Given the description of an element on the screen output the (x, y) to click on. 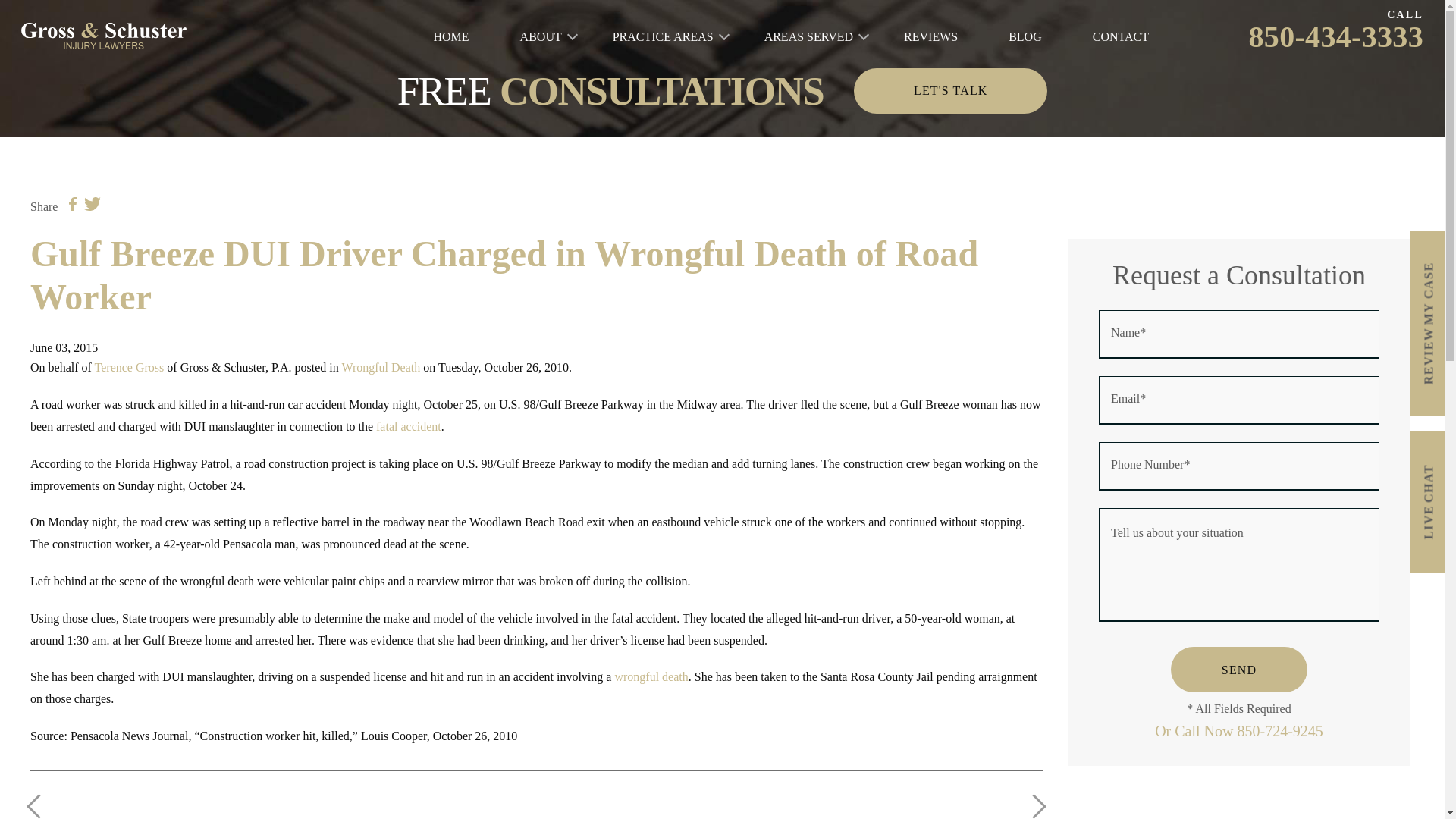
Wrongful Death (380, 367)
AREAS SERVED (808, 37)
Terence Gross (129, 367)
HOME (450, 37)
Send (1238, 669)
REVIEWS (931, 37)
PRACTICE AREAS (662, 37)
ABOUT (540, 37)
CONTACT (1120, 37)
LET'S TALK (949, 90)
